Given the description of an element on the screen output the (x, y) to click on. 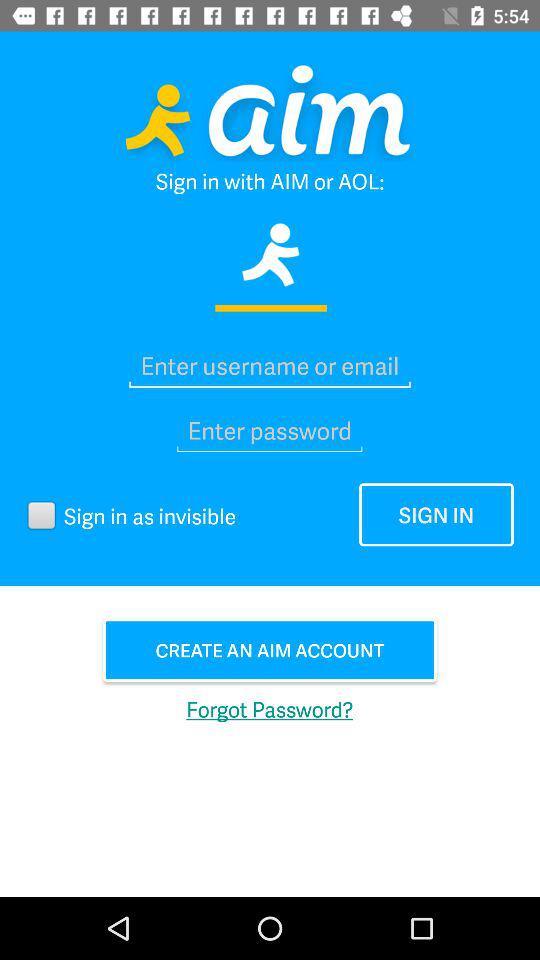
select the button below the sign in item (269, 649)
